Given the description of an element on the screen output the (x, y) to click on. 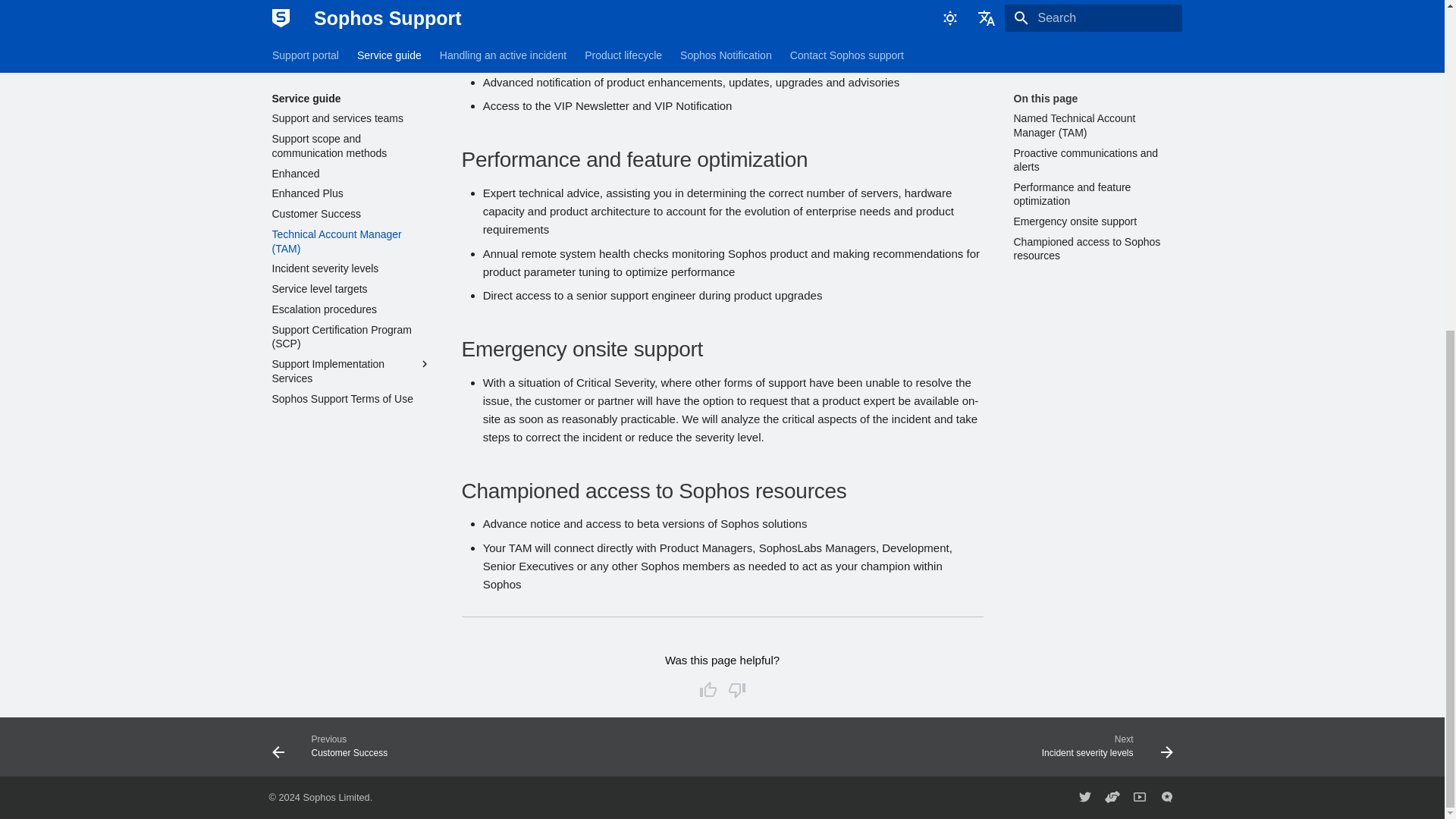
Sophos TechVids (1138, 797)
Give feedback (1165, 797)
Support portal (1111, 797)
Sophos support on Twitter (1083, 797)
This page was helpful (707, 689)
This page could be improved (736, 689)
